Given the description of an element on the screen output the (x, y) to click on. 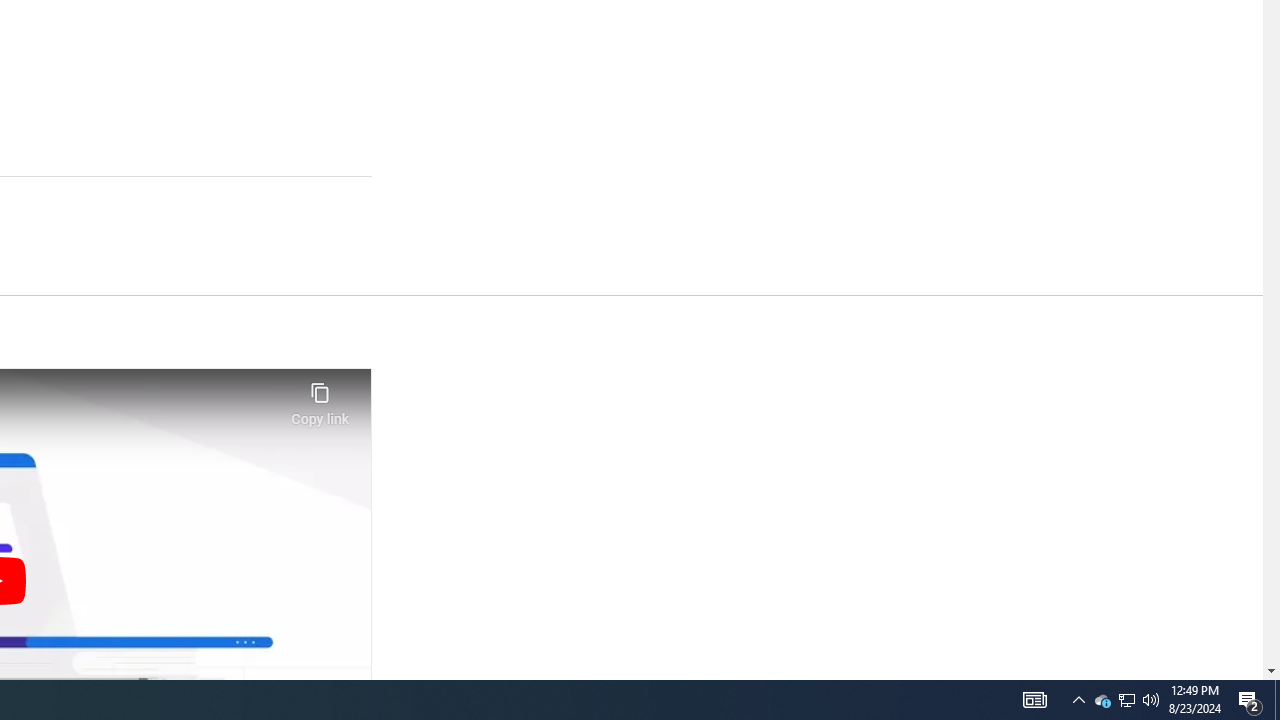
Copy link (319, 398)
